Given the description of an element on the screen output the (x, y) to click on. 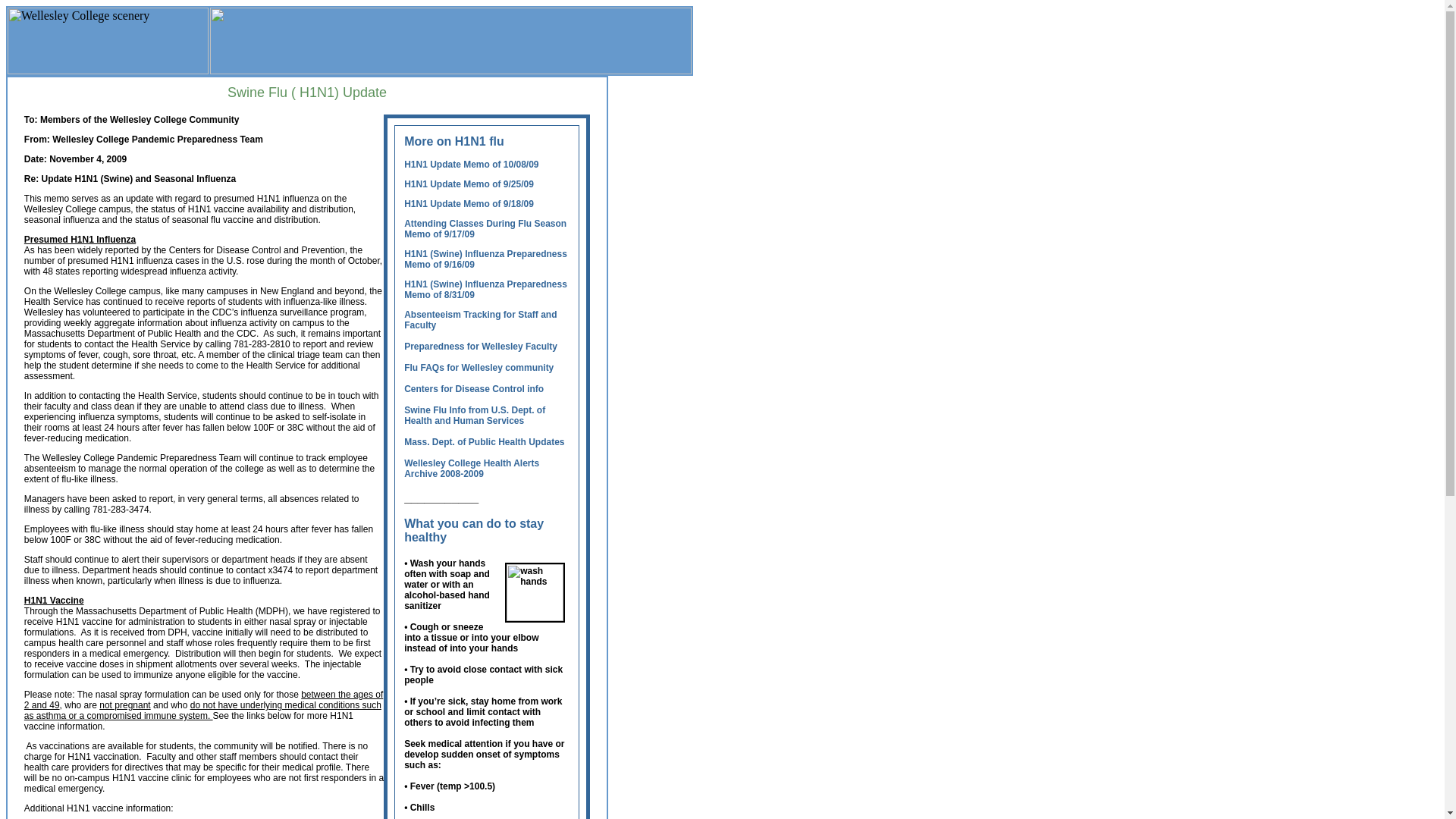
Preparedness for Wellesley Faculty (480, 357)
Opens external link in new window (473, 394)
Opens external link in new window (480, 357)
Wellesley College Health Alerts Archive 2008-2009 (471, 468)
Centers for Disease Control info (473, 394)
Opens external link in new window (484, 446)
Swine Flu Info from U.S. Dept. of Health and Human Services (474, 420)
Opens external link in new window (480, 383)
Mass. Dept. of Public Health Updates (484, 446)
Opens external link in new window (474, 420)
